Given the description of an element on the screen output the (x, y) to click on. 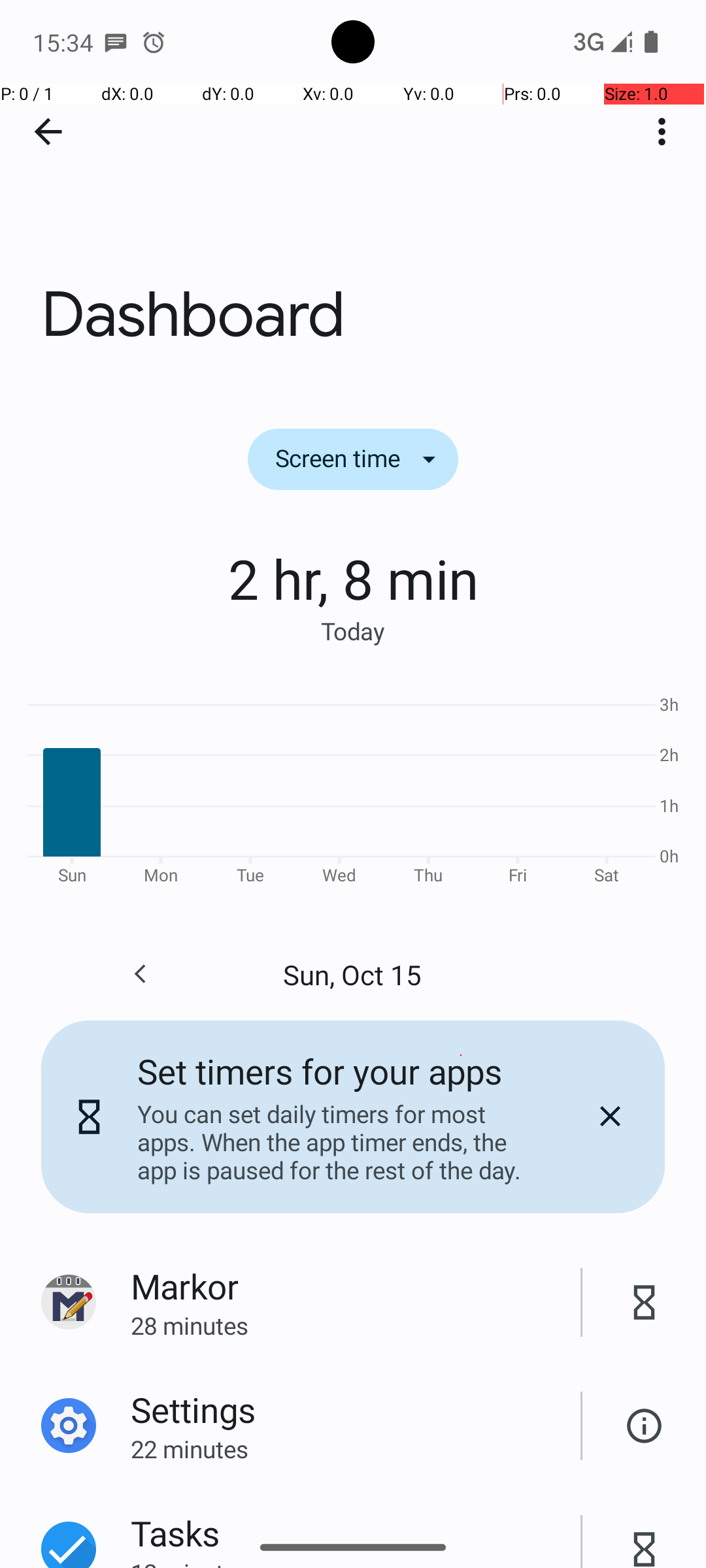
Dashboard Element type: android.widget.FrameLayout (353, 195)
2 hr, 8 min Element type: android.widget.TextView (353, 577)
Set timers for your apps Element type: android.widget.TextView (319, 1070)
You can set daily timers for most apps. When the app timer ends, the app is paused for the rest of the day. Element type: android.widget.TextView (339, 1141)
Dismiss card Element type: android.widget.Button (609, 1116)
28 minutes Element type: android.widget.TextView (355, 1325)
No timer set for Markor Element type: android.widget.FrameLayout (644, 1302)
22 minutes Element type: android.widget.TextView (355, 1448)
Can't set timer Element type: android.widget.FrameLayout (644, 1425)
12 minutes Element type: android.widget.TextView (355, 1562)
No timer set for Tasks Element type: android.widget.FrameLayout (644, 1534)
Bar Chart. Showing Phone usage data with 7 data points. Element type: android.view.ViewGroup (353, 787)
